Given the description of an element on the screen output the (x, y) to click on. 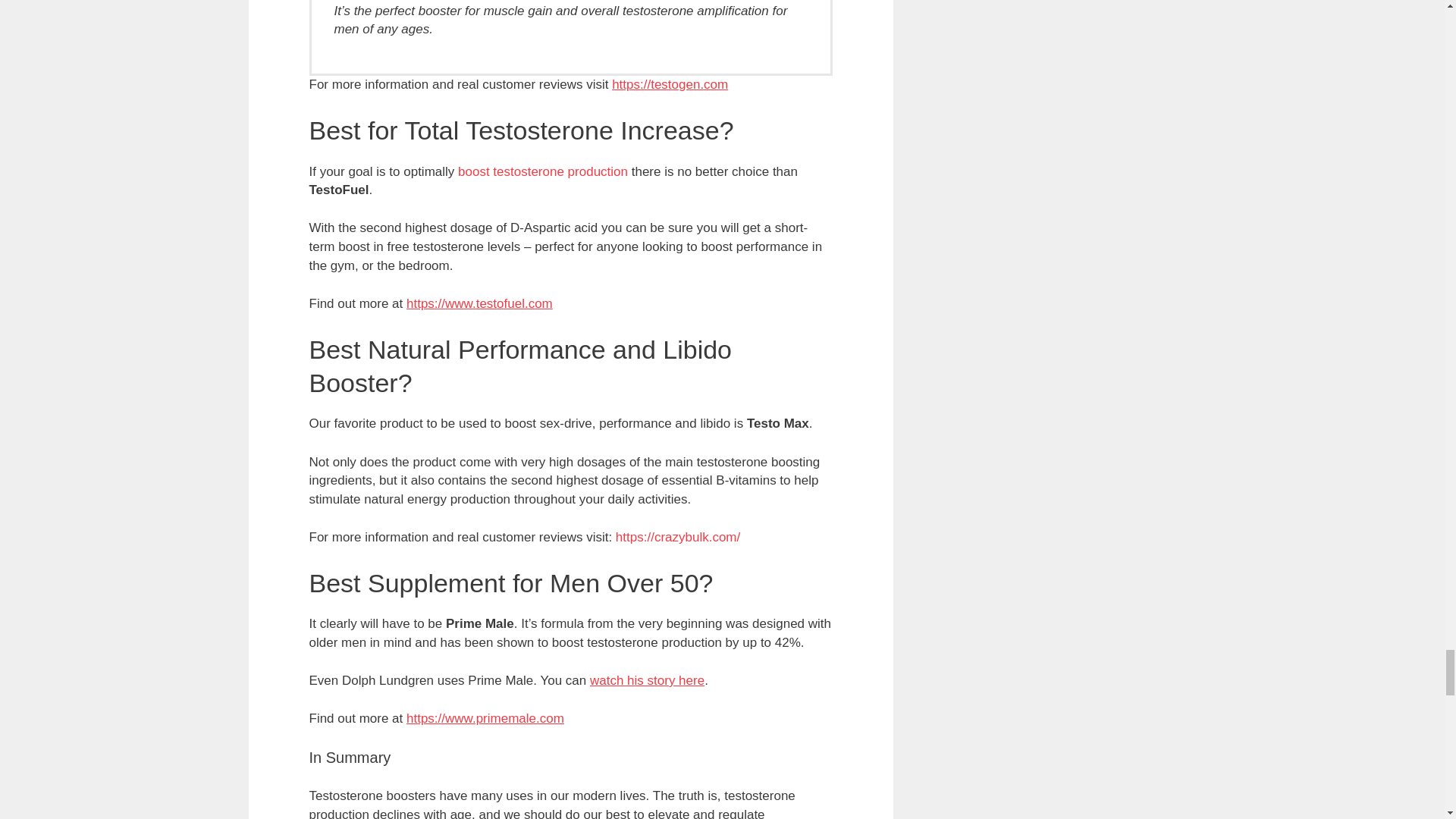
Prime Male (485, 718)
Buy Testogen (669, 83)
TestoMax (677, 536)
TestoFuel (479, 303)
